Given the description of an element on the screen output the (x, y) to click on. 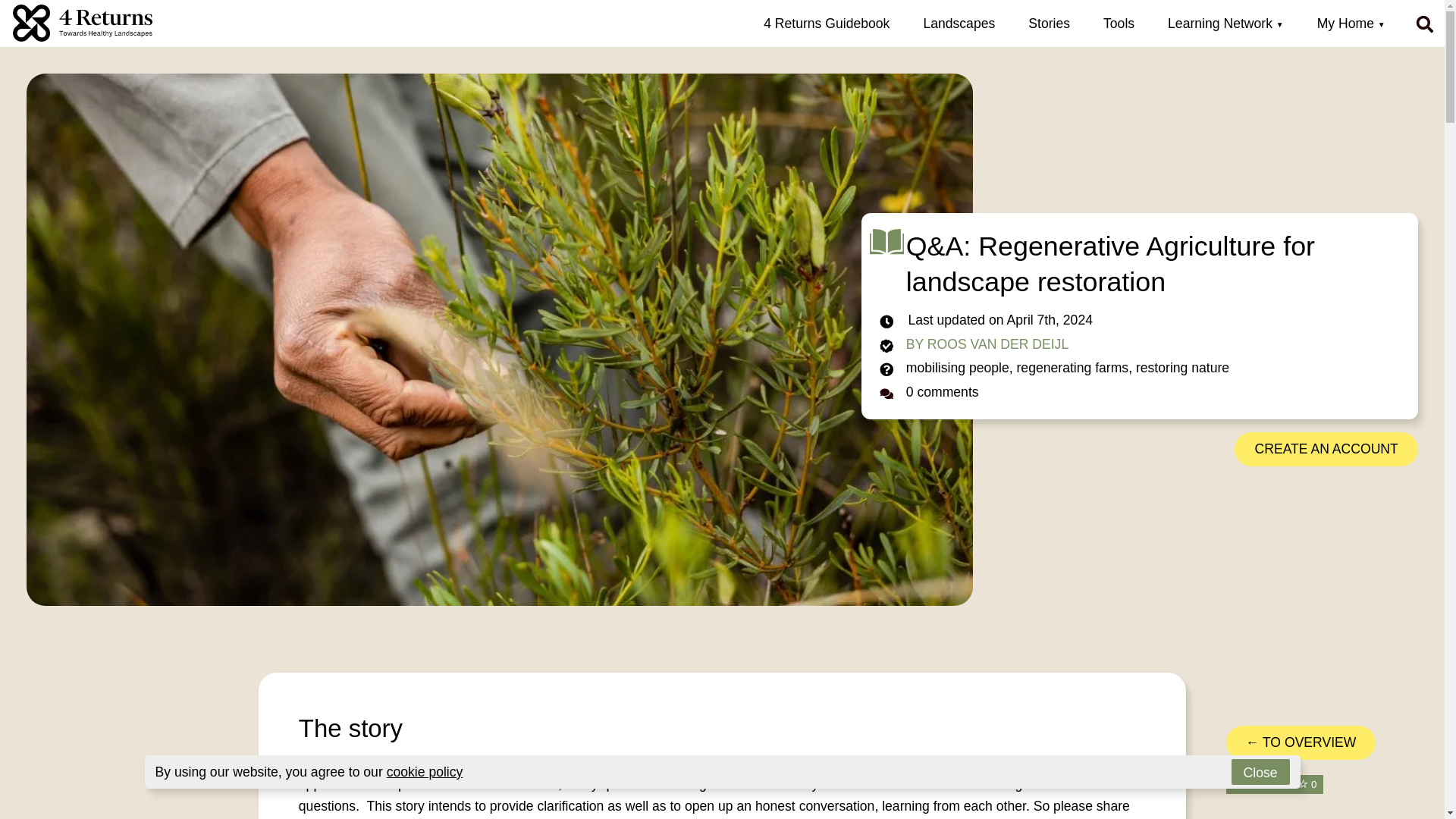
Naar home (82, 27)
Landscapes (958, 23)
Share on Twitter (1262, 817)
Tools (1118, 23)
Share on LinkedIn (1286, 817)
4 Returns Guidebook (825, 23)
Stories (1048, 23)
Share on Facebook (1237, 817)
CREATE AN ACCOUNT (1325, 449)
BY ROOS VAN DER DEIJL (986, 344)
My Home (1351, 23)
Learning Network (1225, 23)
